Given the description of an element on the screen output the (x, y) to click on. 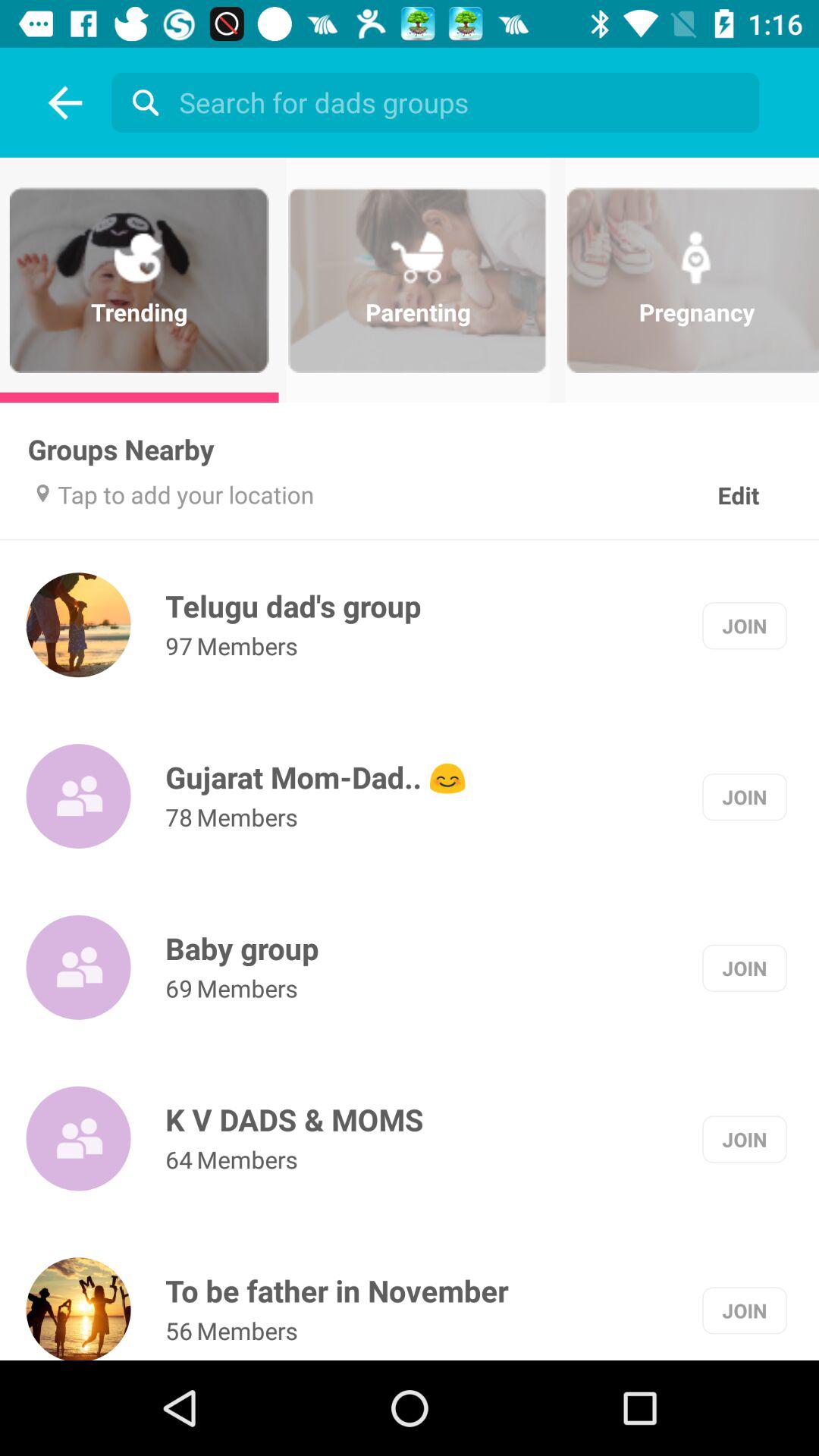
open telugu dad s (293, 605)
